Given the description of an element on the screen output the (x, y) to click on. 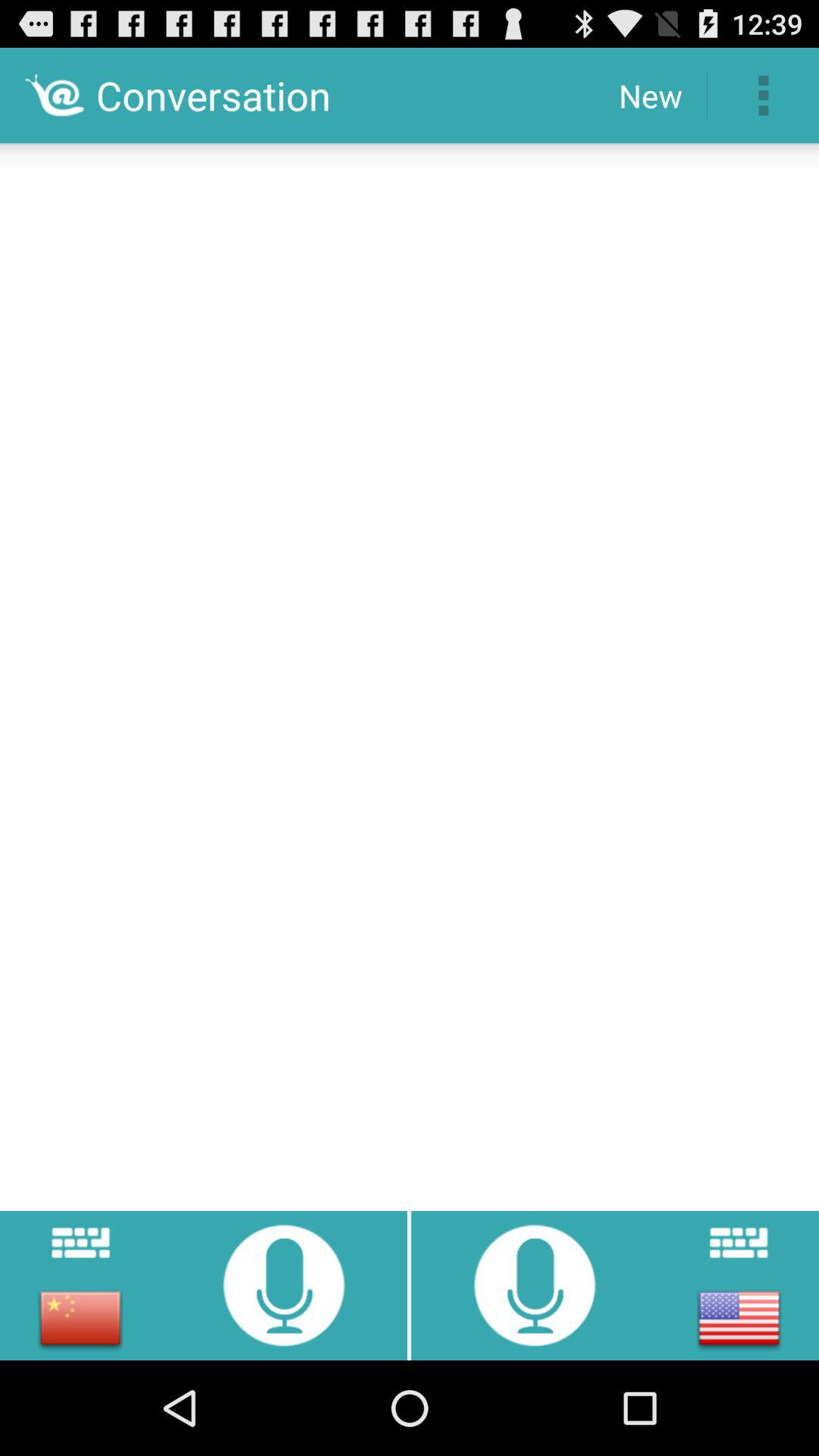
tap the icon to the right of new (763, 95)
